Given the description of an element on the screen output the (x, y) to click on. 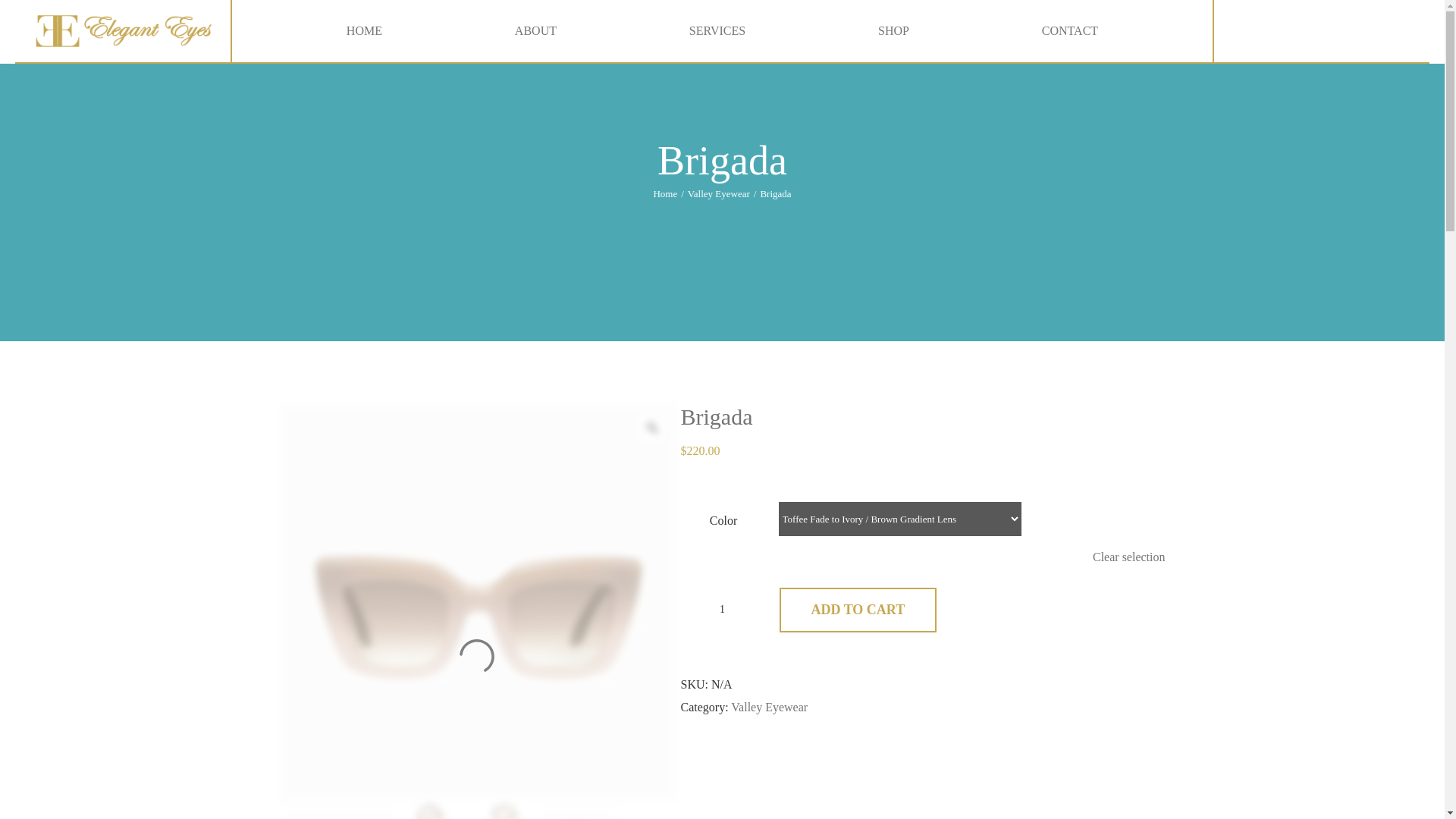
HOME (364, 31)
SERVICES (716, 31)
Home (664, 193)
ADD TO CART (857, 610)
ABOUT (535, 31)
Valley Eyewear (718, 193)
Valley Eyewear (769, 707)
SHOP (893, 31)
CONTACT (1069, 31)
1 (721, 609)
Clear selection (1129, 557)
